Given the description of an element on the screen output the (x, y) to click on. 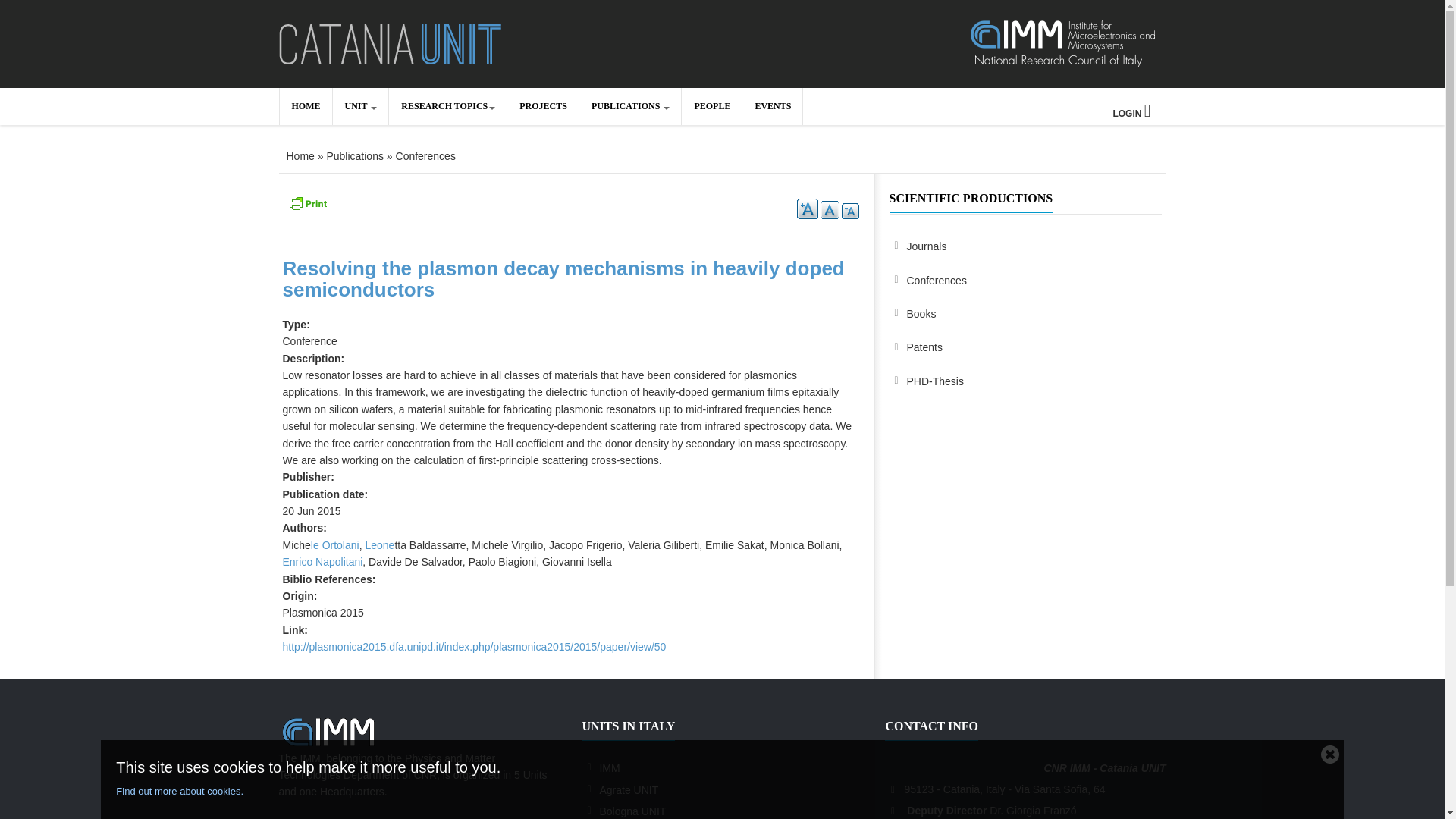
A (850, 211)
UNIT (359, 106)
EVENTS (772, 106)
Find out more about cookies. (714, 791)
Close cookie notice (1329, 753)
People (711, 106)
Home (300, 155)
Projects (542, 106)
PROJECTS (542, 106)
RESEARCH TOPICS (447, 106)
